Given the description of an element on the screen output the (x, y) to click on. 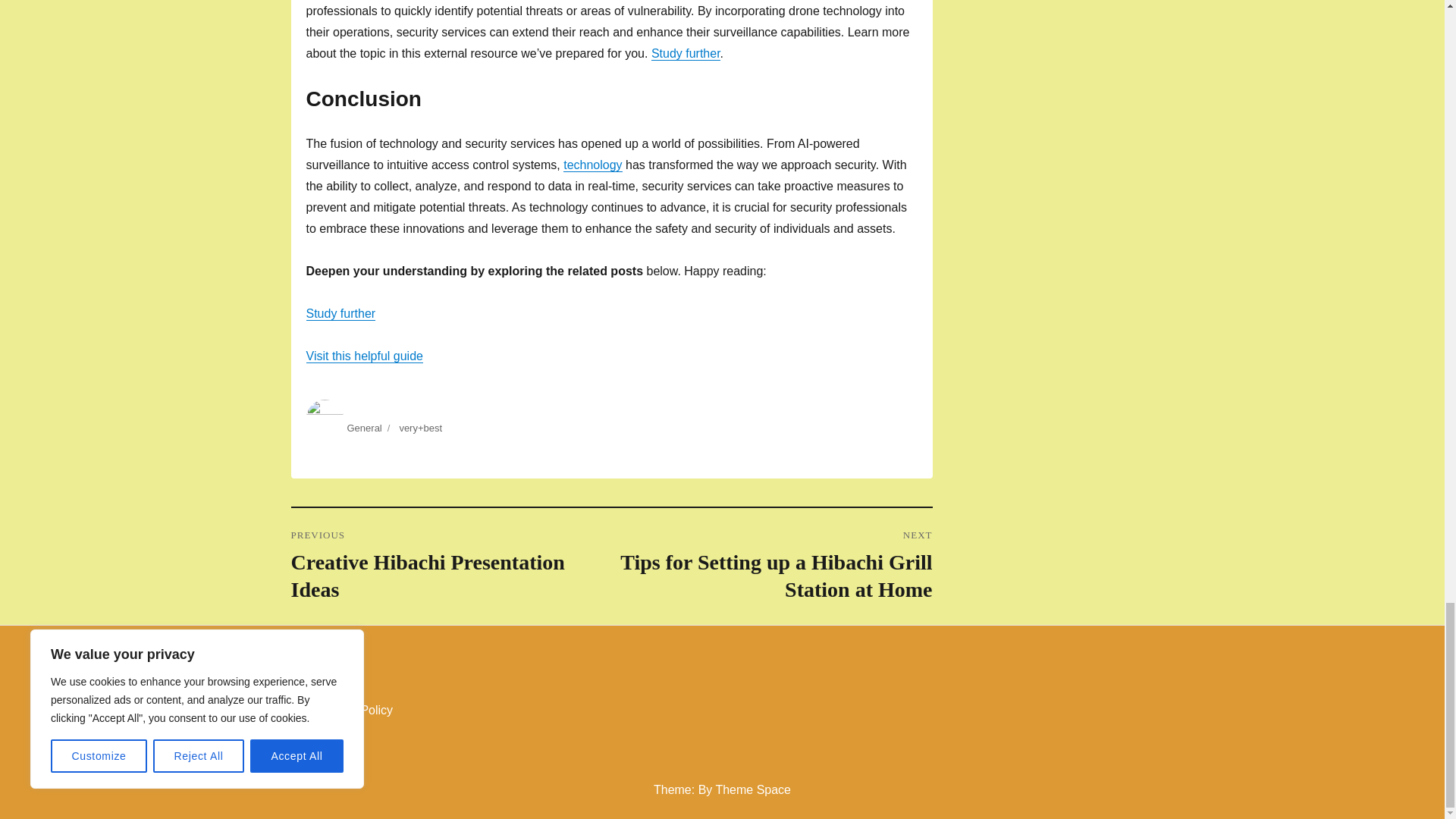
Study further (451, 565)
Visit this helpful guide (340, 313)
Study further (364, 355)
General (685, 52)
technology (364, 428)
